Given the description of an element on the screen output the (x, y) to click on. 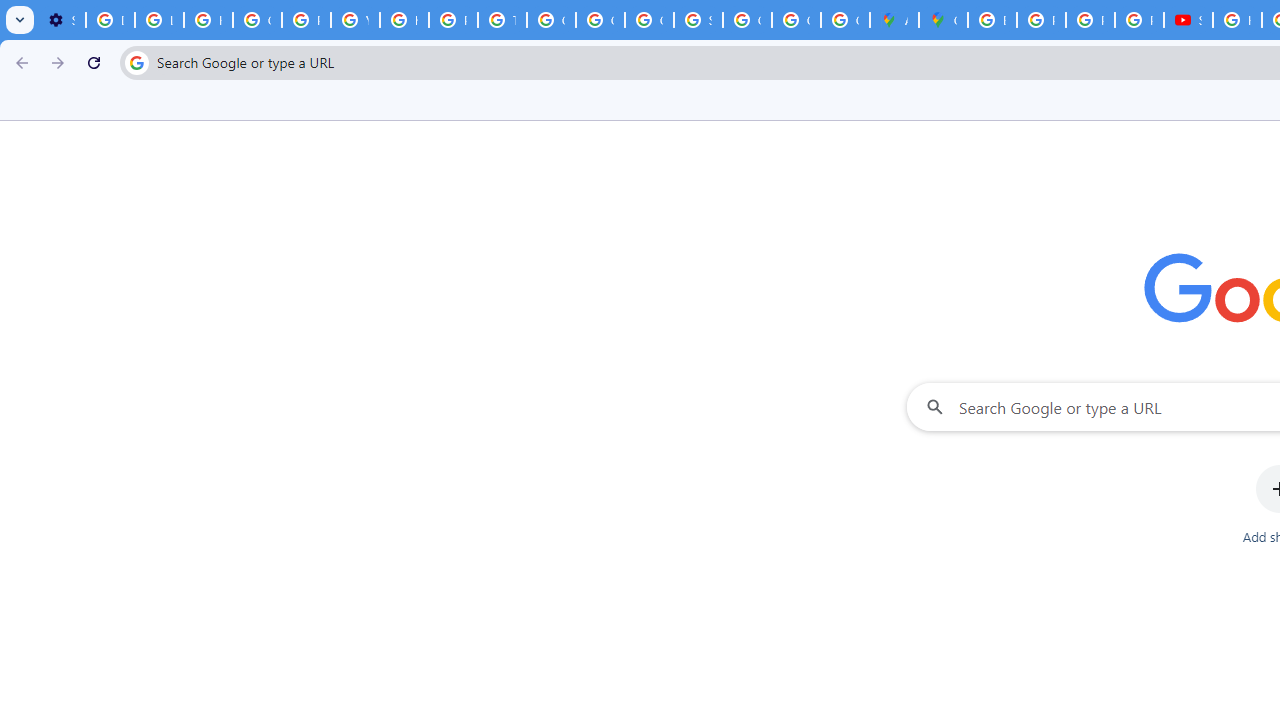
Privacy Help Center - Policies Help (1041, 20)
Privacy Help Center - Policies Help (452, 20)
YouTube (355, 20)
https://scholar.google.com/ (404, 20)
Sign in - Google Accounts (698, 20)
Privacy Help Center - Policies Help (306, 20)
Learn how to find your photos - Google Photos Help (159, 20)
Delete photos & videos - Computer - Google Photos Help (109, 20)
